Given the description of an element on the screen output the (x, y) to click on. 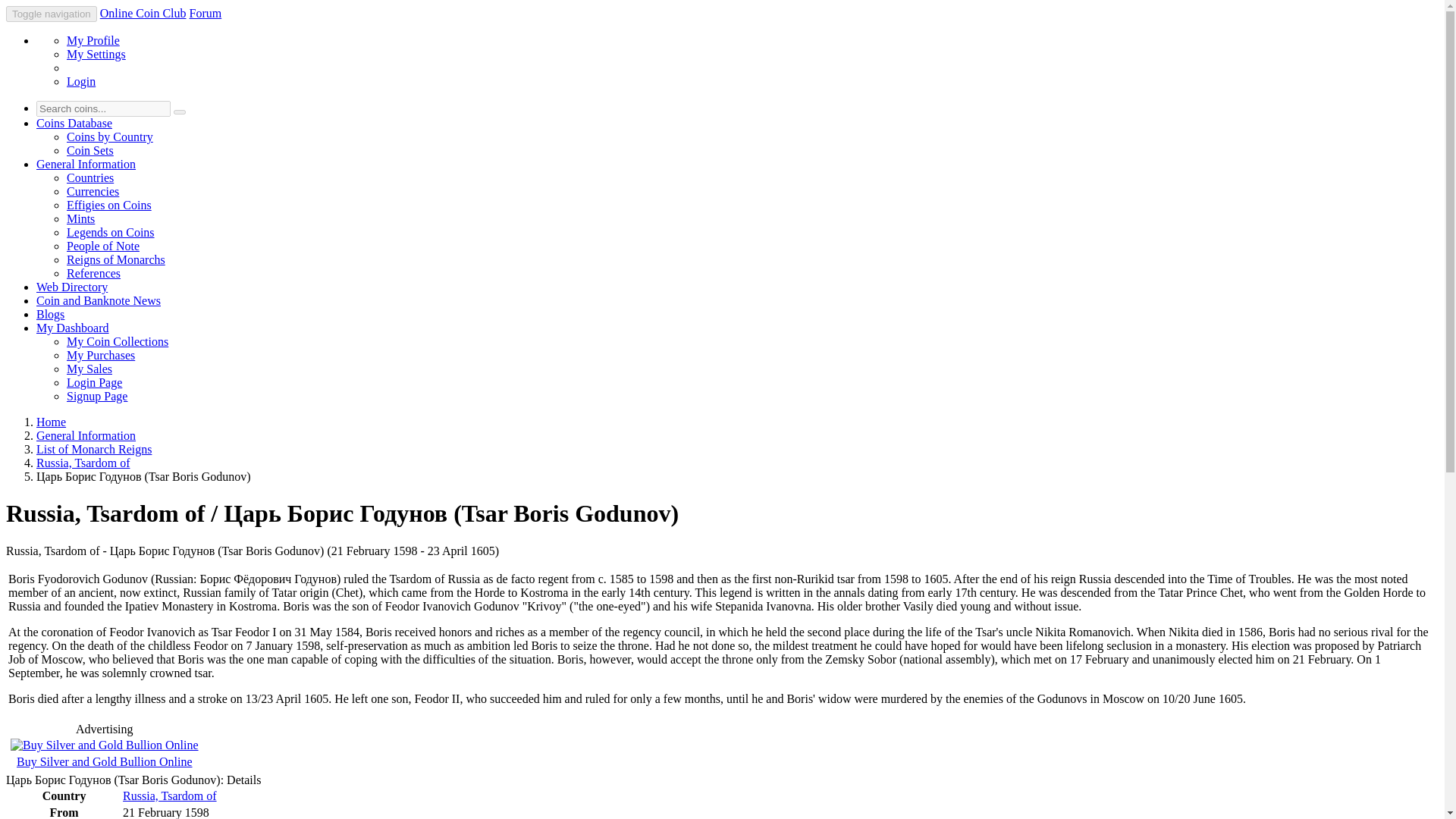
Russia, Tsardom of (82, 462)
My Settings (95, 53)
People of Note (102, 245)
Mints (80, 218)
Signup Page (97, 395)
Russia, Tsardom of (168, 795)
General Information (85, 435)
Online Coin Club (143, 12)
Reigns of Monarchs (115, 259)
Coin and Banknote News (98, 300)
